Given the description of an element on the screen output the (x, y) to click on. 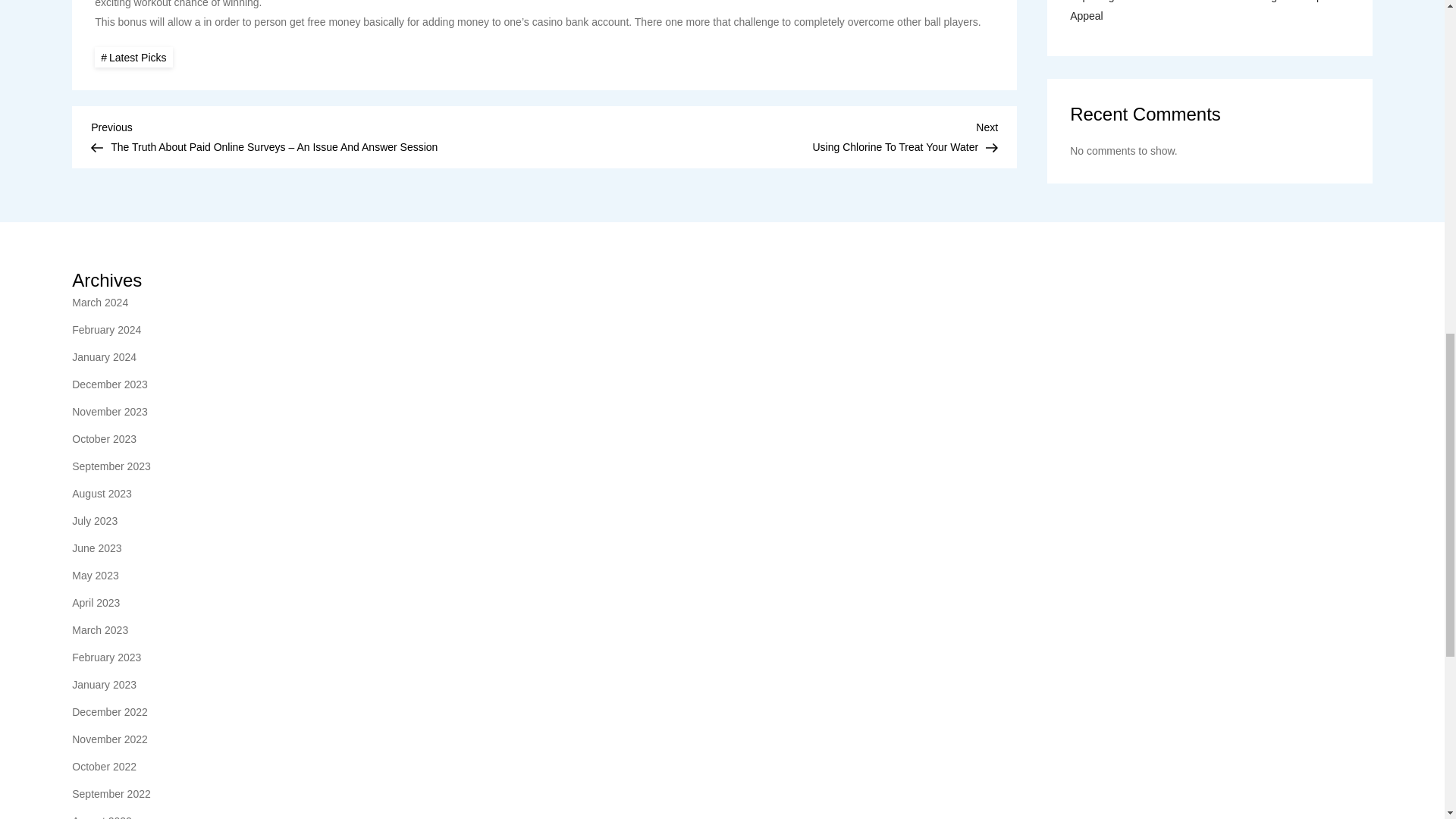
March 2024 (99, 302)
September 2022 (111, 793)
October 2023 (103, 438)
July 2023 (94, 520)
October 2022 (103, 766)
February 2024 (106, 329)
February 2023 (106, 657)
June 2023 (95, 547)
December 2023 (109, 383)
August 2023 (101, 493)
April 2023 (95, 602)
January 2023 (103, 684)
March 2023 (99, 629)
September 2023 (770, 135)
